Given the description of an element on the screen output the (x, y) to click on. 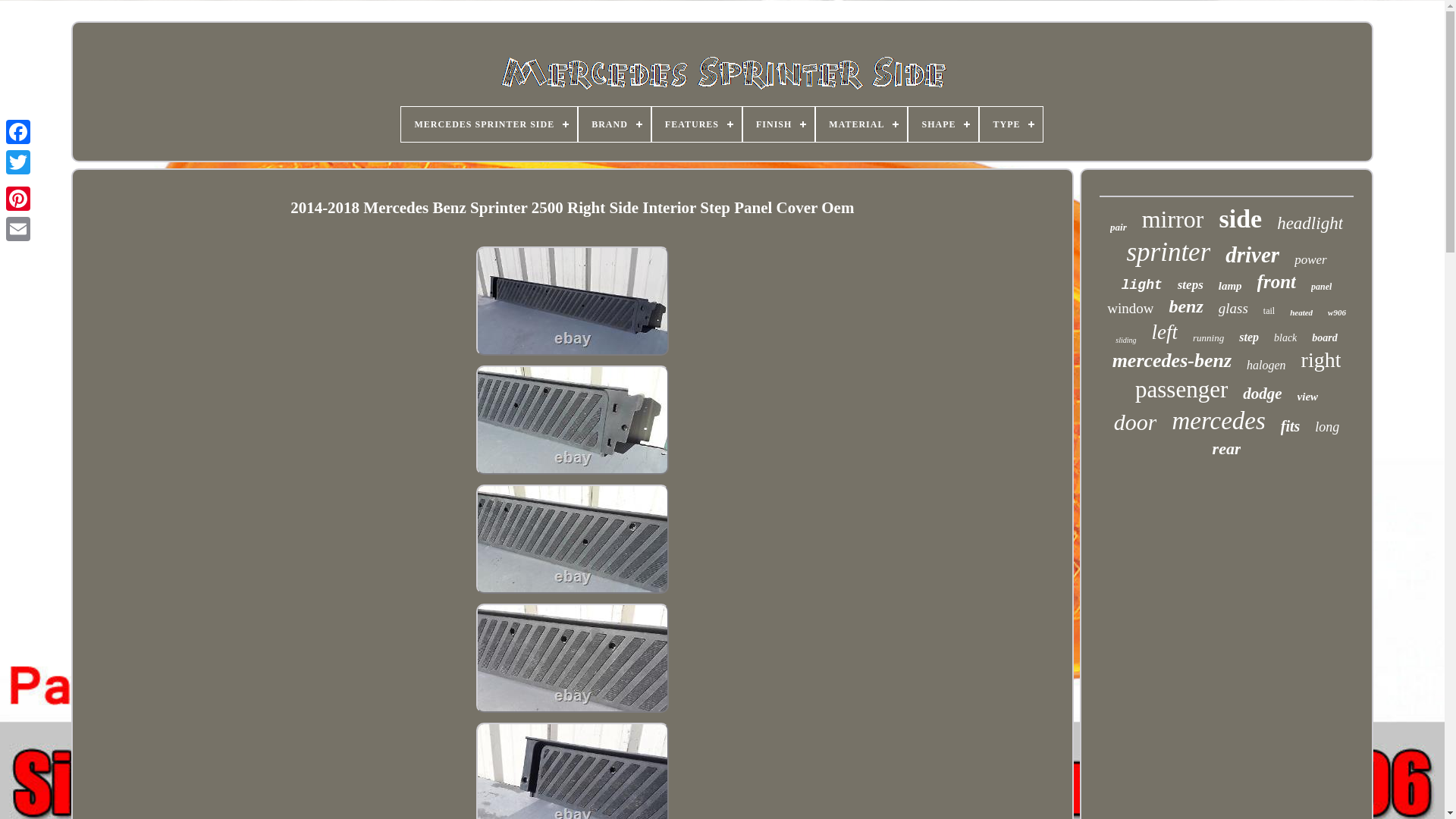
BRAND (614, 124)
MERCEDES SPRINTER SIDE (488, 124)
FEATURES (696, 124)
